Given the description of an element on the screen output the (x, y) to click on. 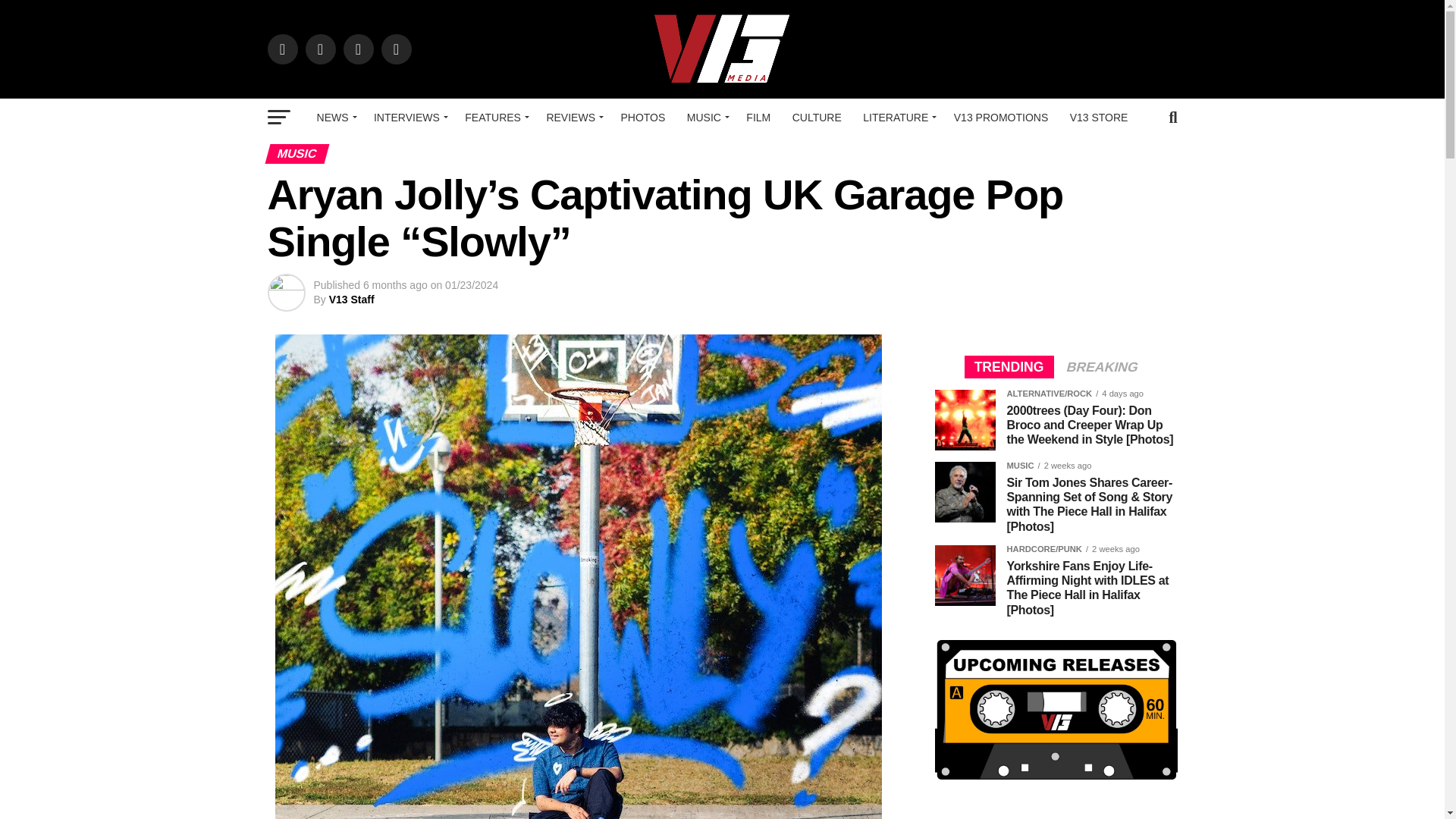
Posts by V13 Staff (351, 299)
